Given the description of an element on the screen output the (x, y) to click on. 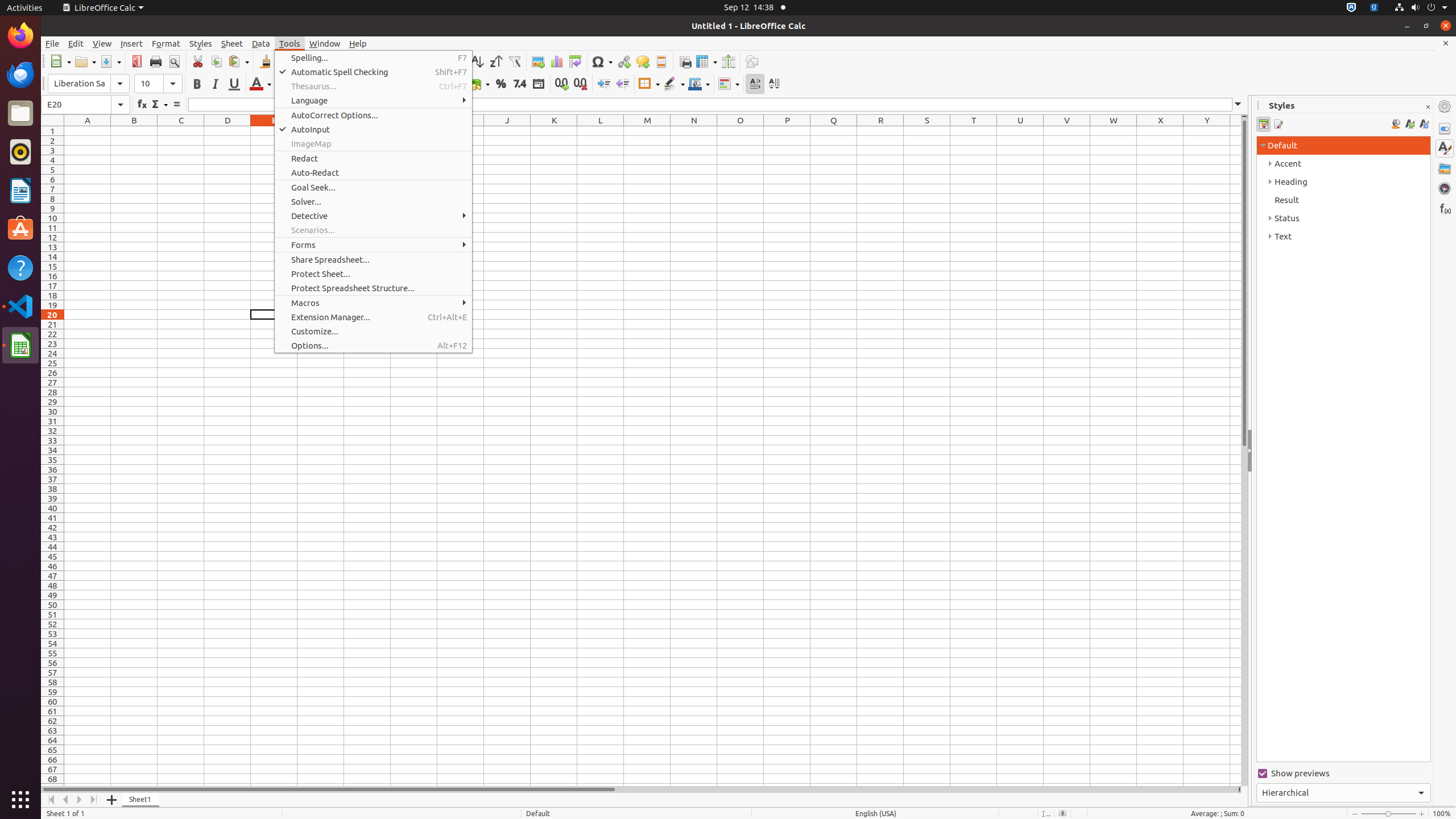
LibreOffice Calc Element type: menu (102, 7)
M1 Element type: table-cell (646, 130)
Tools Element type: menu (289, 43)
Move To End Element type: push-button (94, 799)
Share Spreadsheet... Element type: menu-item (373, 259)
